Given the description of an element on the screen output the (x, y) to click on. 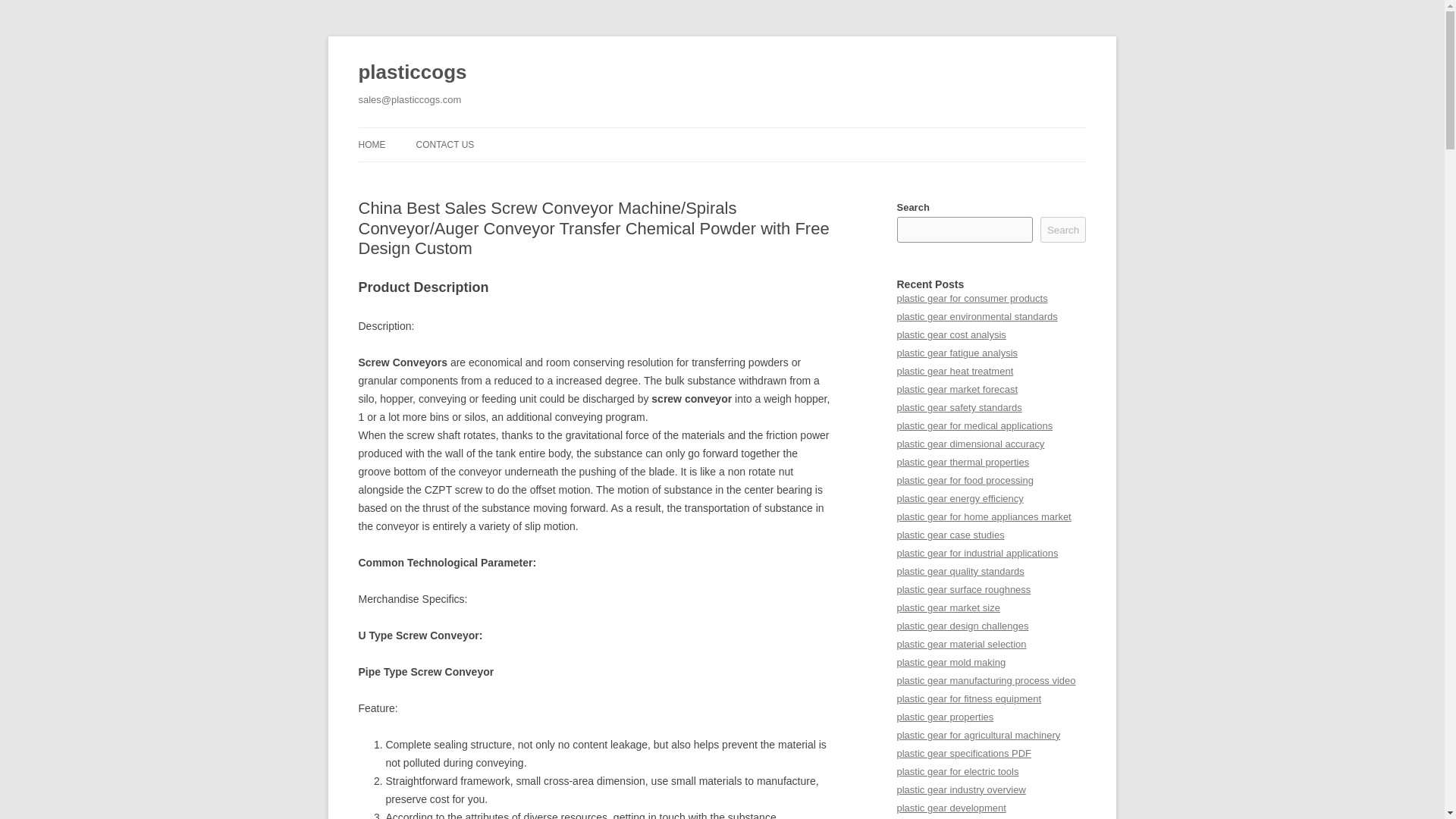
plastic gear for food processing (964, 480)
plastic gear fatigue analysis (956, 352)
Search (1063, 229)
plastic gear dimensional accuracy (969, 443)
CONTACT US (444, 144)
plastic gear thermal properties (962, 461)
plastic gear market forecast (956, 389)
plastic gear safety standards (959, 407)
plastic gear for industrial applications (977, 552)
plastic gear quality standards (959, 571)
